Given the description of an element on the screen output the (x, y) to click on. 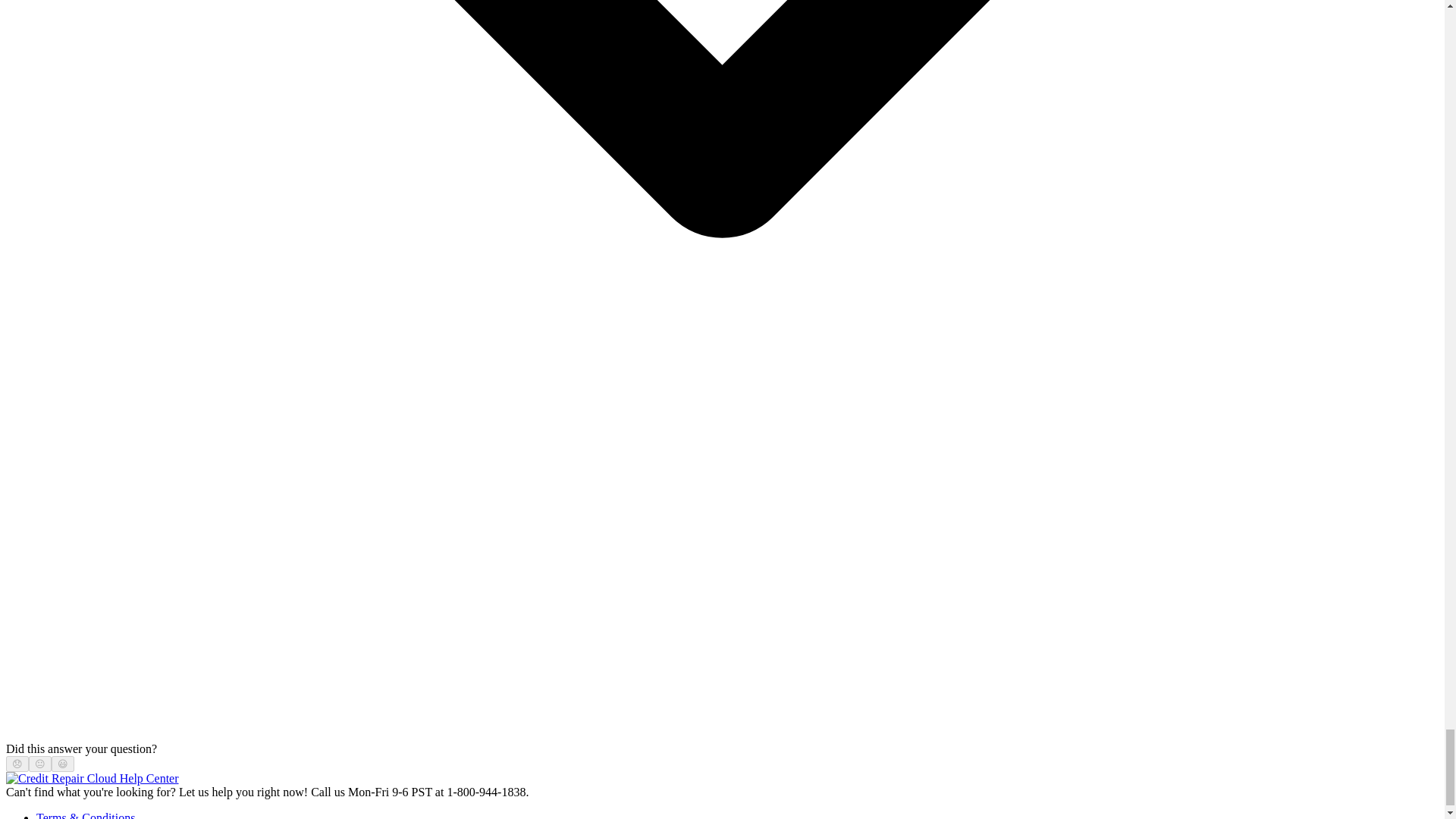
Neutral (39, 763)
Smiley (63, 763)
Disappointed (17, 763)
